Given the description of an element on the screen output the (x, y) to click on. 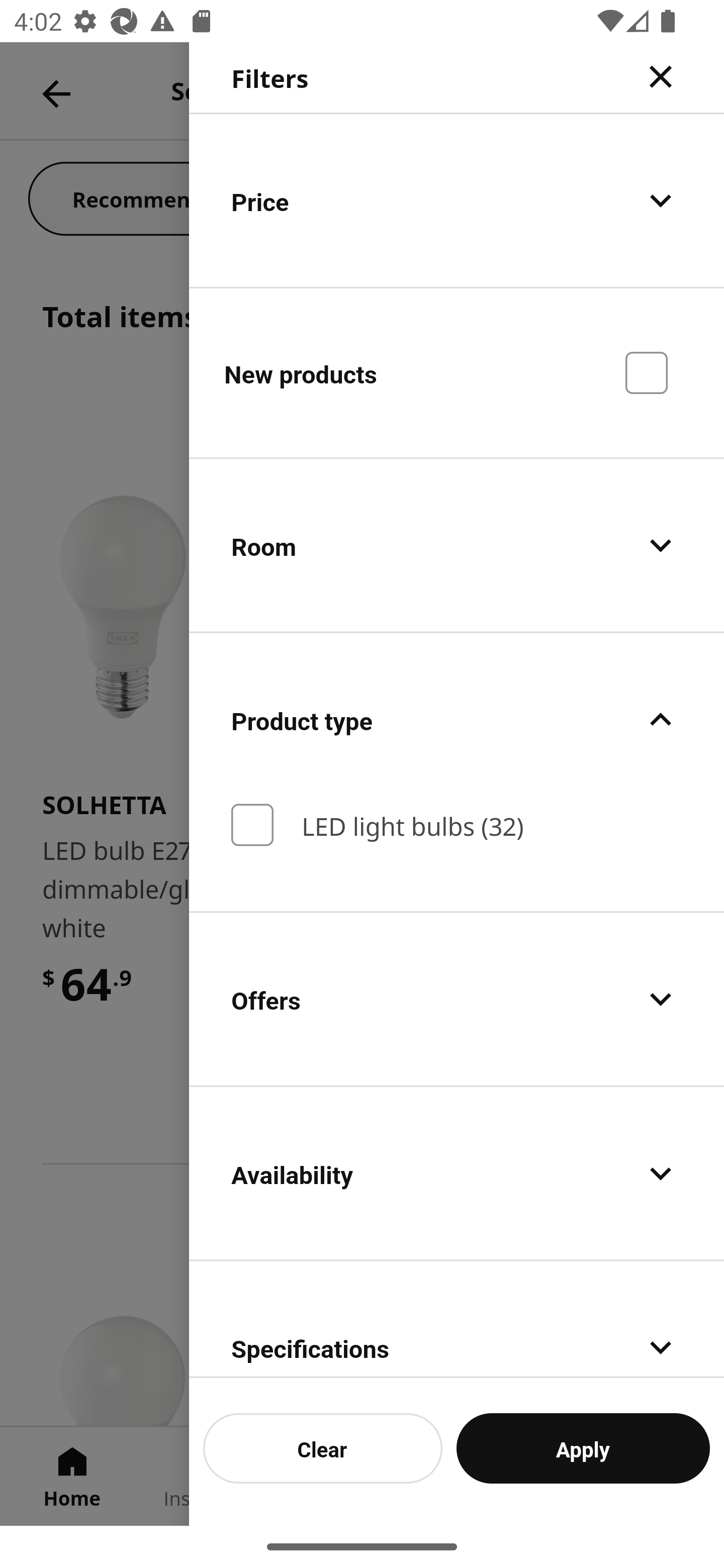
Price (456, 200)
New products (456, 371)
Room (456, 545)
Product type (456, 719)
LED light bulbs (32) (456, 825)
Offers (456, 998)
Availability (456, 1173)
Specifications (456, 1319)
Clear (322, 1447)
Apply (583, 1447)
